Given the description of an element on the screen output the (x, y) to click on. 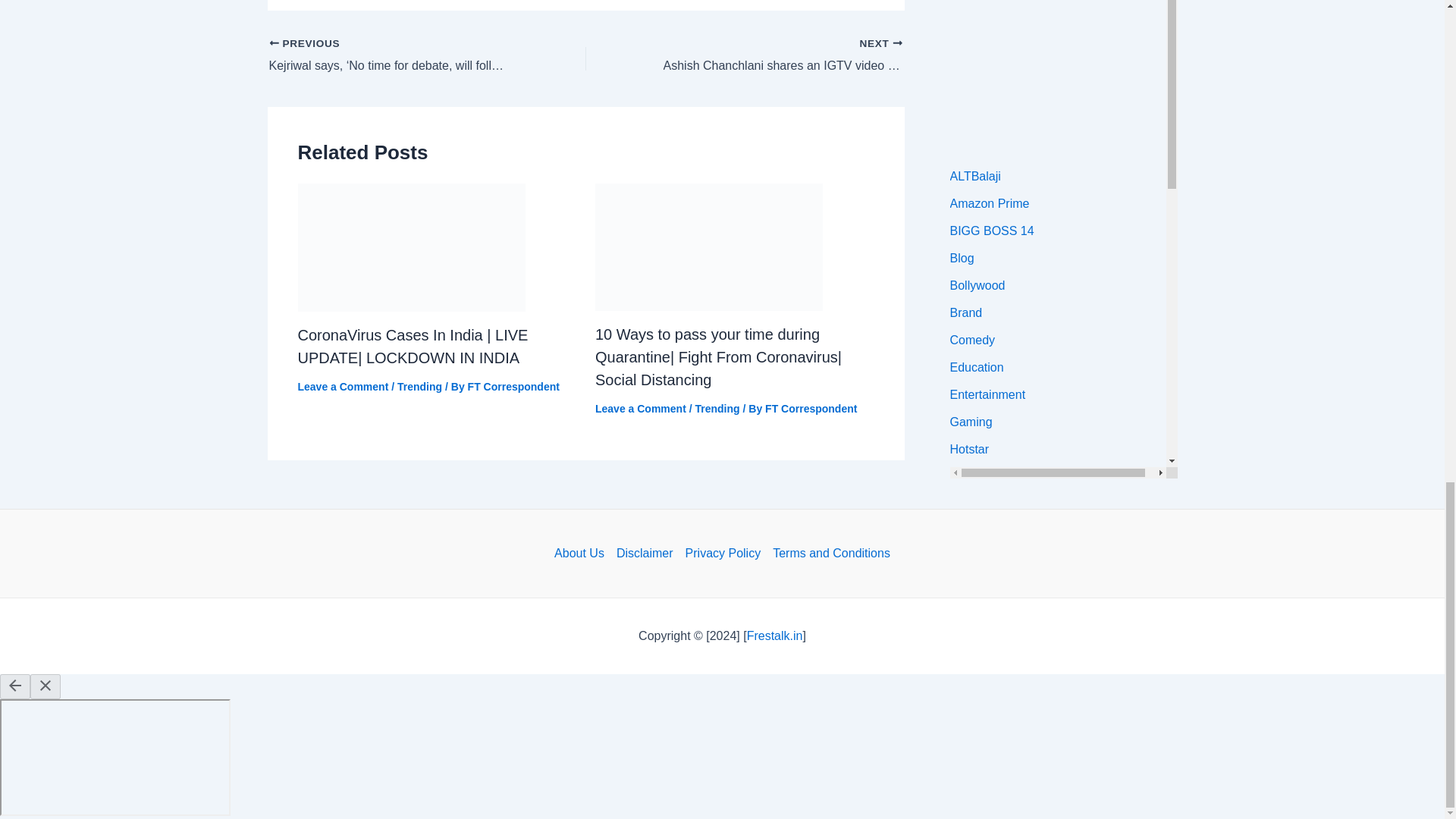
View all posts by FT Correspondent (513, 386)
FT Correspondent (513, 386)
Leave a Comment (342, 386)
Leave a Comment (640, 408)
Trending (716, 408)
FT Correspondent (811, 408)
Trending (419, 386)
View all posts by FT Correspondent (811, 408)
